Given the description of an element on the screen output the (x, y) to click on. 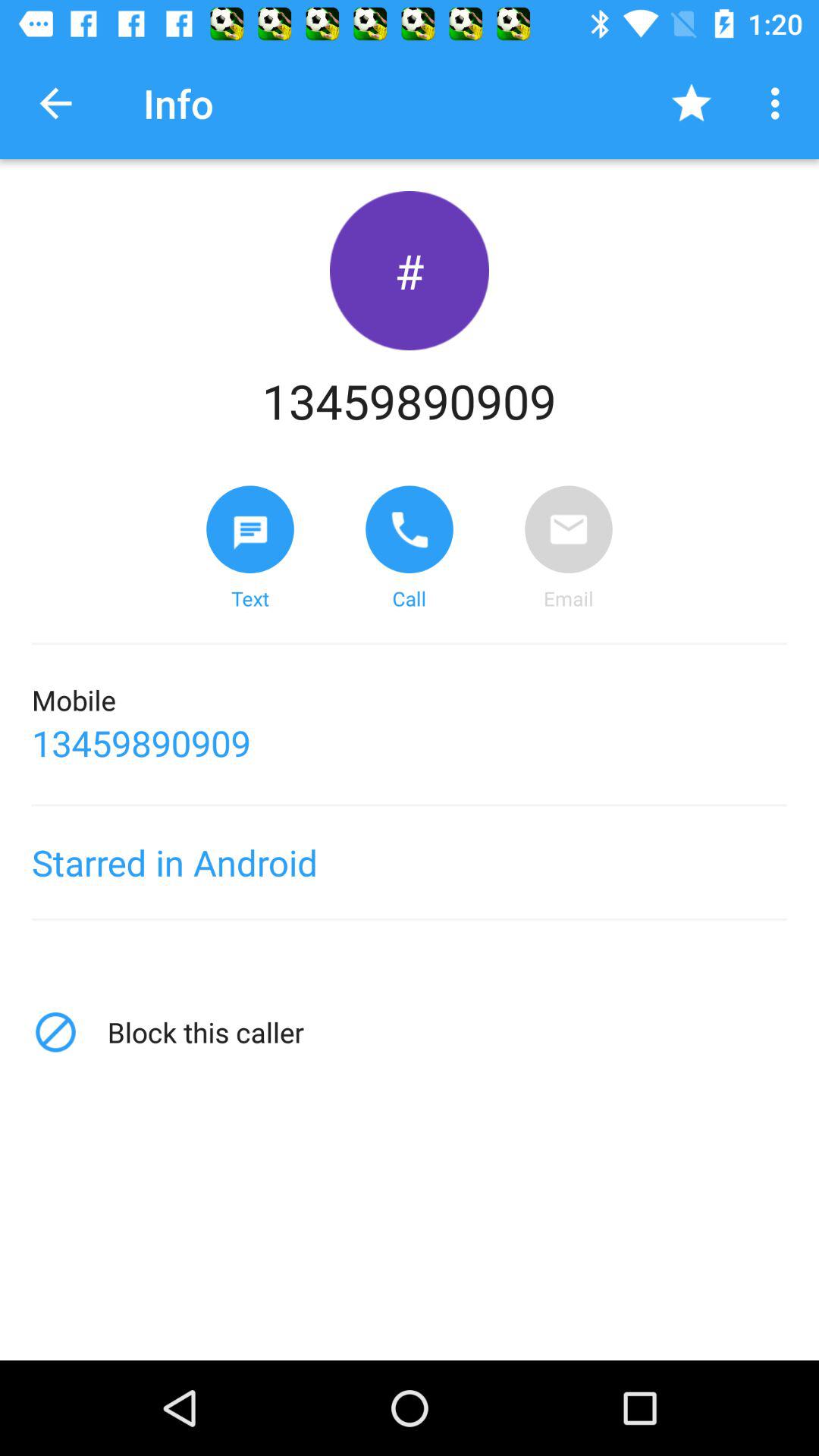
launch the icon to the right of info icon (691, 103)
